Given the description of an element on the screen output the (x, y) to click on. 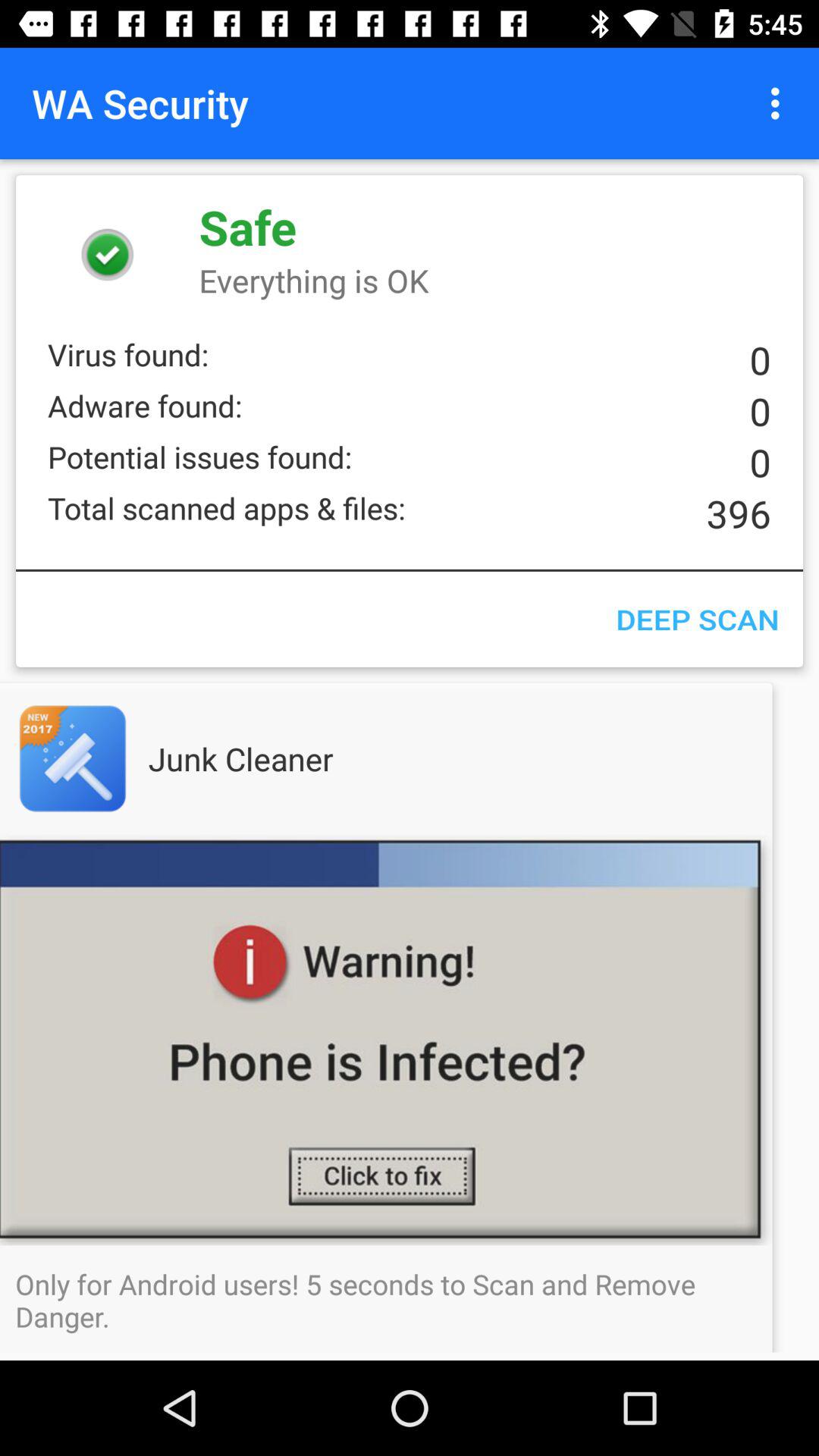
scroll to the only for android icon (409, 1300)
